Given the description of an element on the screen output the (x, y) to click on. 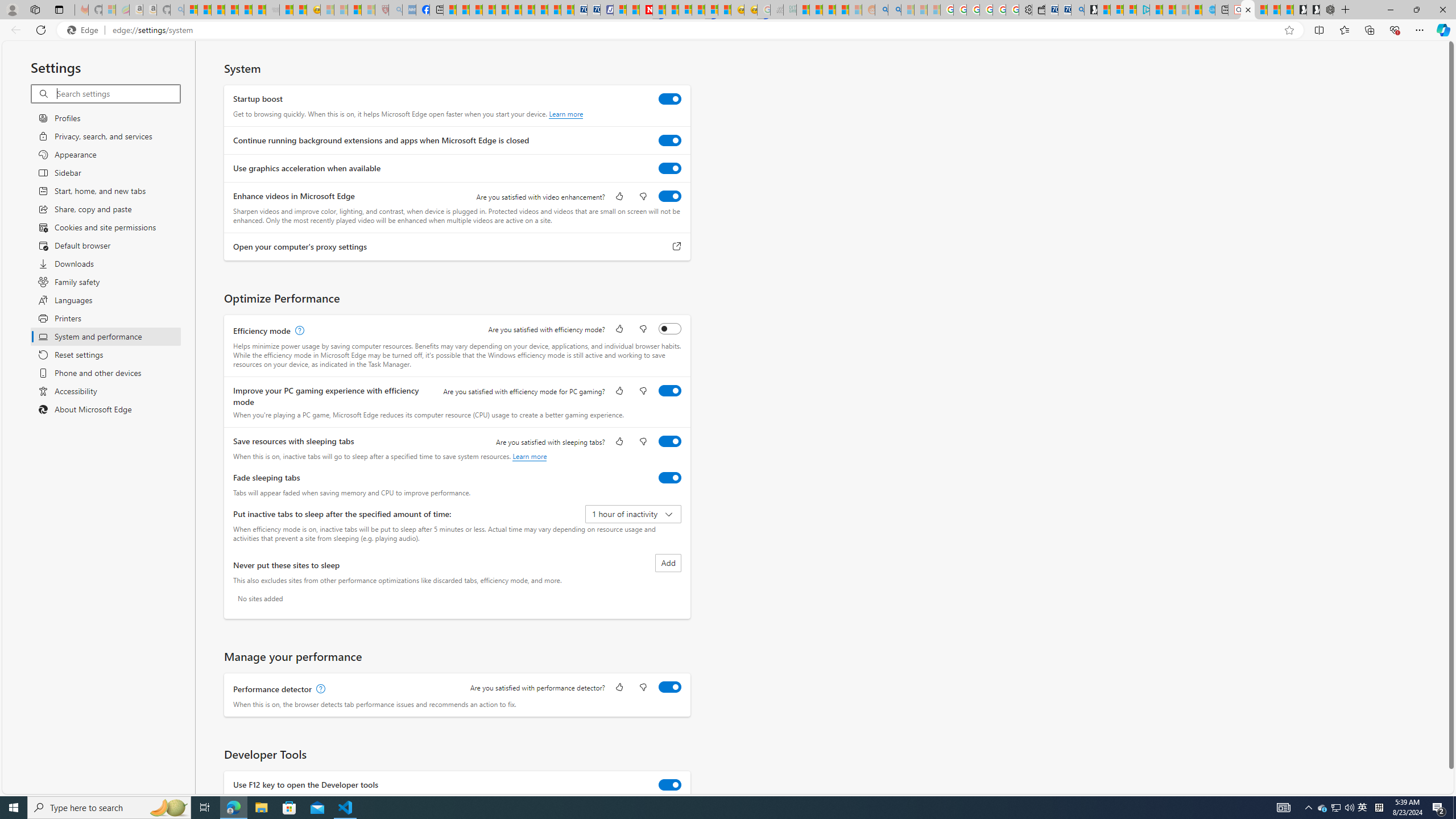
Open your computer's proxy settings (676, 246)
Climate Damage Becomes Too Severe To Reverse (488, 9)
Use F12 key to open the Developer tools (669, 784)
